Given the description of an element on the screen output the (x, y) to click on. 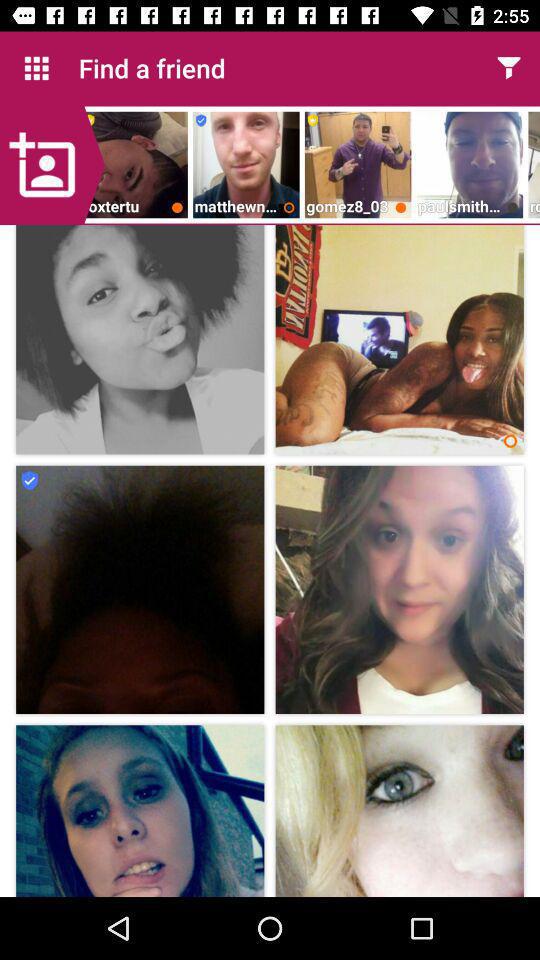
click the item next to find a friend icon (508, 67)
